Given the description of an element on the screen output the (x, y) to click on. 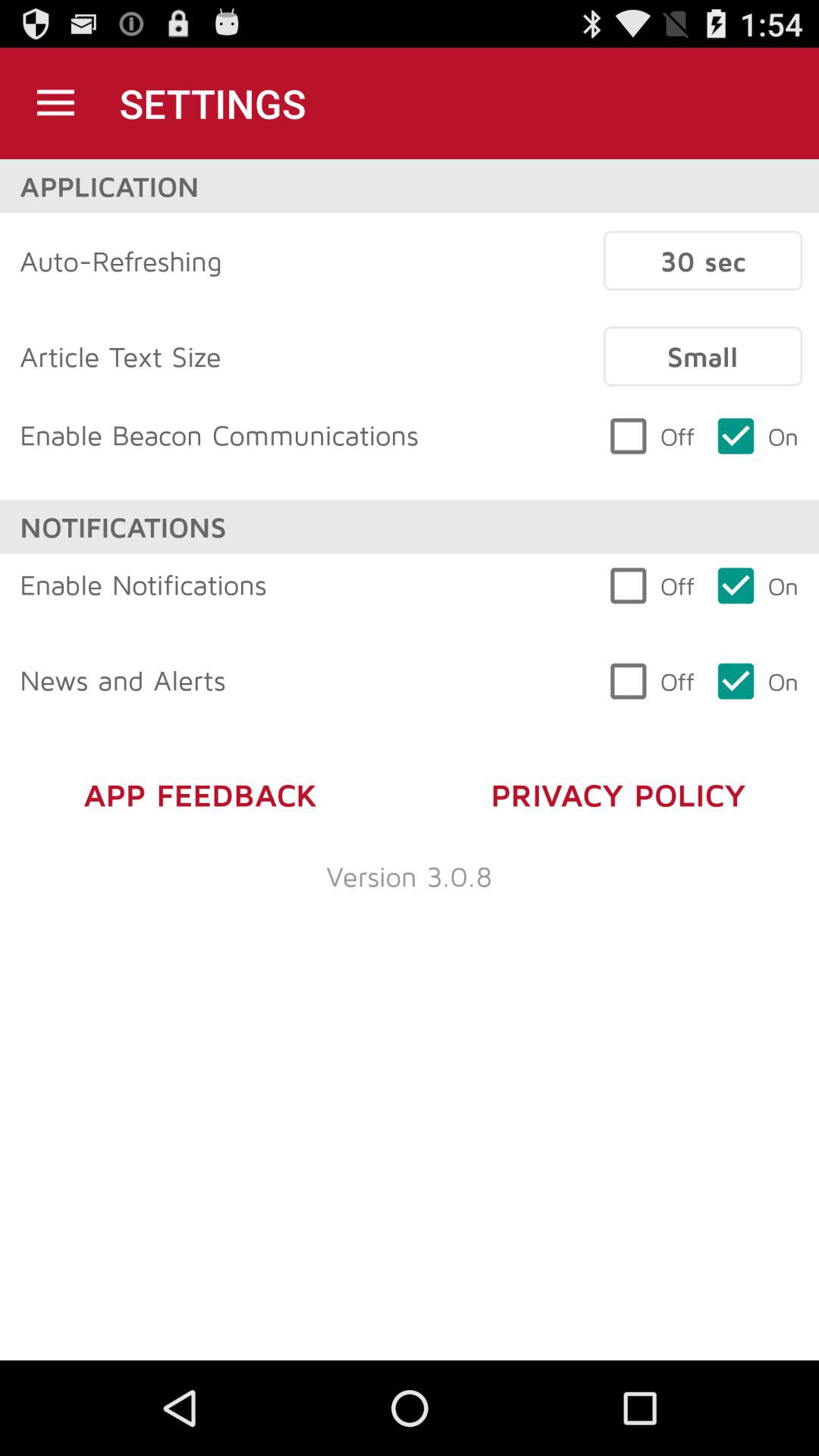
choose item to the left of the settings (55, 103)
